Given the description of an element on the screen output the (x, y) to click on. 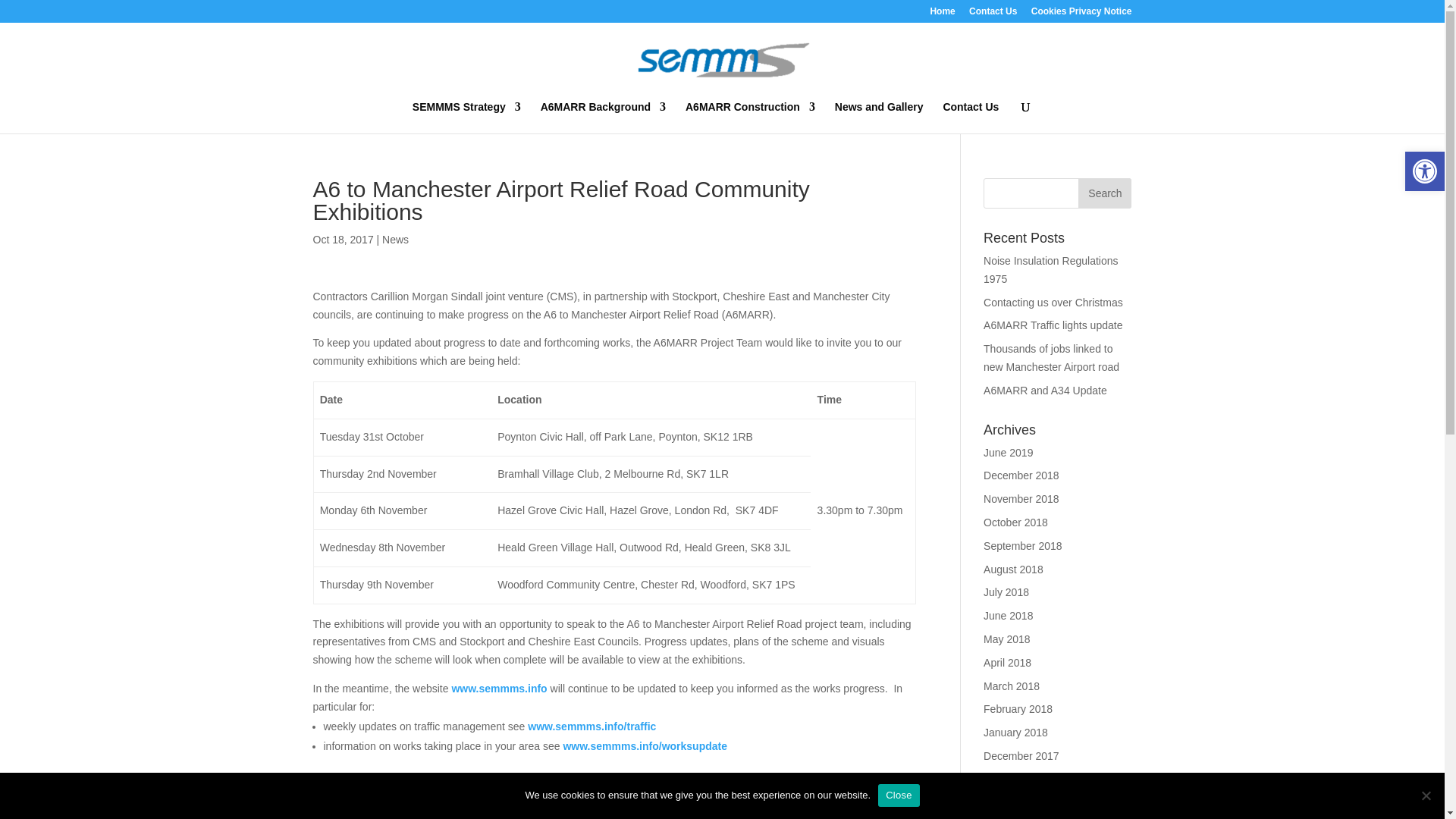
A6MARR Background (602, 117)
Contact Us (992, 14)
Search (1104, 193)
Contact Us (970, 117)
A6MARR Construction (750, 117)
News and Gallery (878, 117)
Cookies Privacy Notice (1081, 14)
SEMMMS Strategy (466, 117)
Home (942, 14)
